Given the description of an element on the screen output the (x, y) to click on. 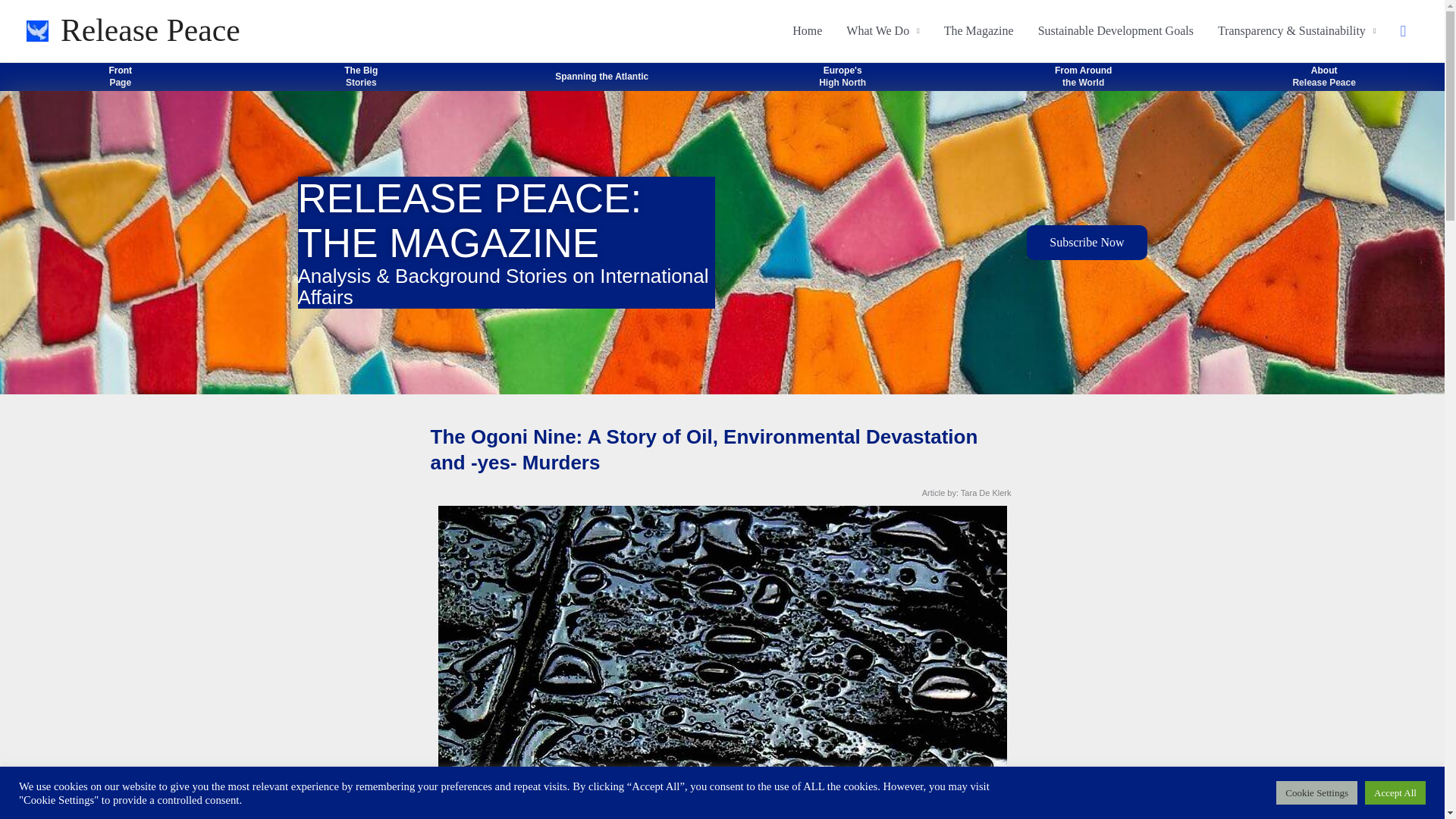
What We Do (882, 30)
Sustainable Development Goals (1115, 30)
Spanning the Atlantic (1323, 76)
Subscribe Now (600, 76)
The Magazine (1086, 242)
Home (978, 30)
Release Peace (807, 30)
